Given the description of an element on the screen output the (x, y) to click on. 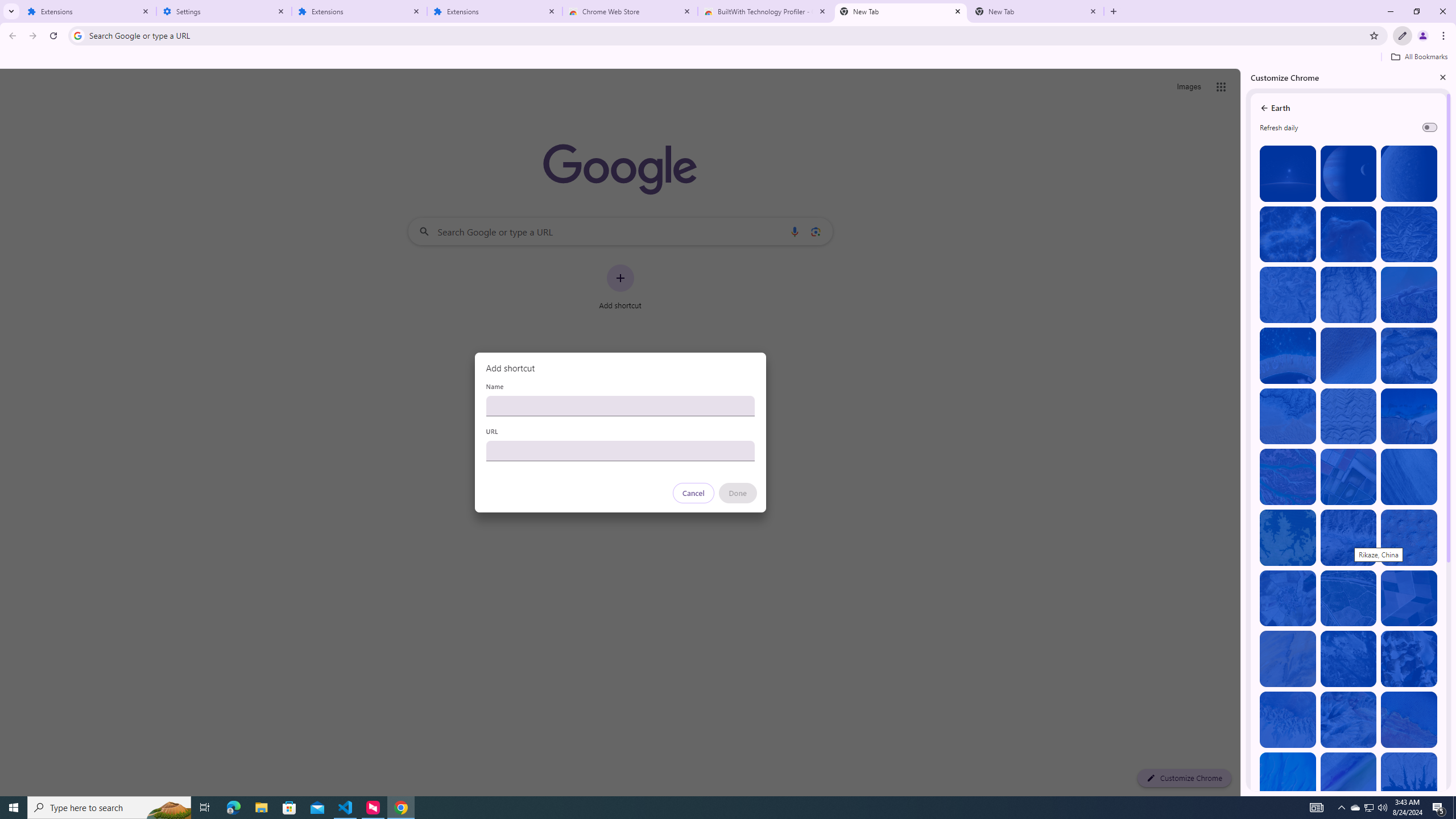
Settings (224, 11)
Aigues-Mortes, France (1348, 476)
Ngari, China (1348, 719)
Extensions (359, 11)
Extensions (88, 11)
Bookmarks (728, 58)
Atar, Mauritania (1287, 658)
Name (620, 405)
Extensions (494, 11)
Granville, France (1348, 658)
